Given the description of an element on the screen output the (x, y) to click on. 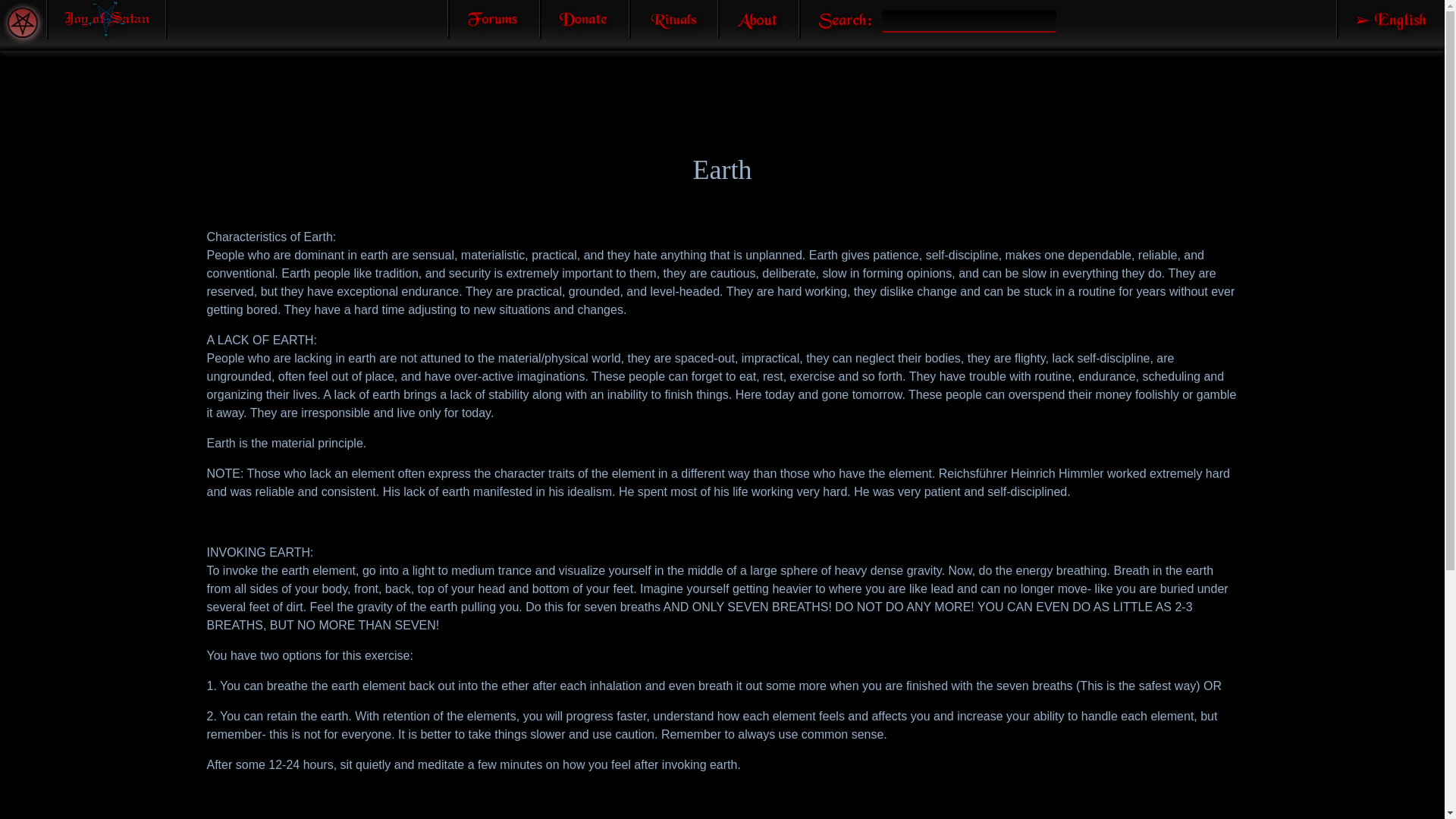
Joy of Satan Home Page (105, 19)
Page Settings (22, 22)
